Given the description of an element on the screen output the (x, y) to click on. 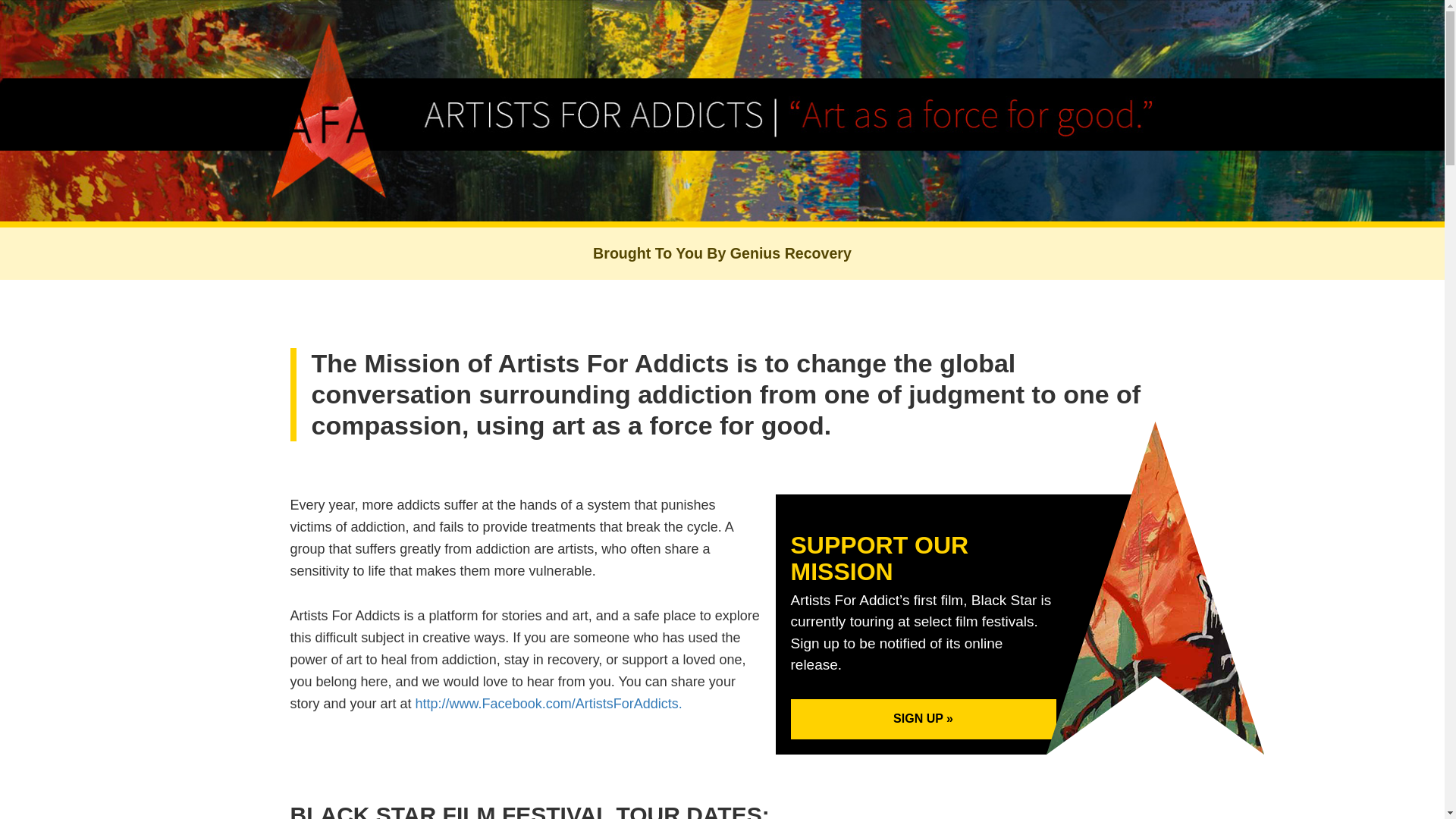
Brought To You By Genius Recovery (721, 252)
